Given the description of an element on the screen output the (x, y) to click on. 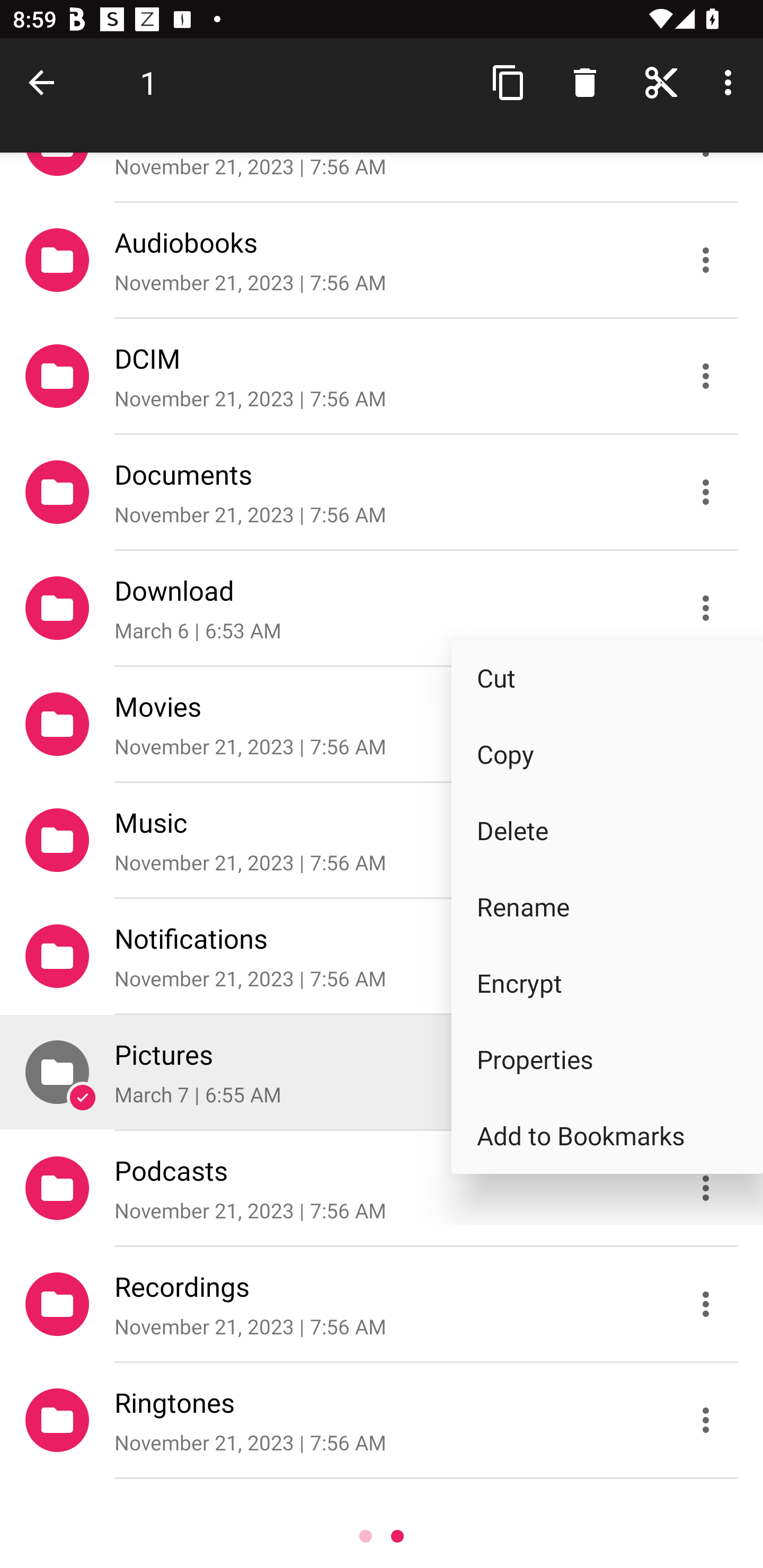
Cut (607, 677)
Copy (607, 753)
Delete (607, 829)
Rename (607, 906)
Encrypt (607, 982)
Properties (607, 1058)
Add to Bookmarks (607, 1135)
